Given the description of an element on the screen output the (x, y) to click on. 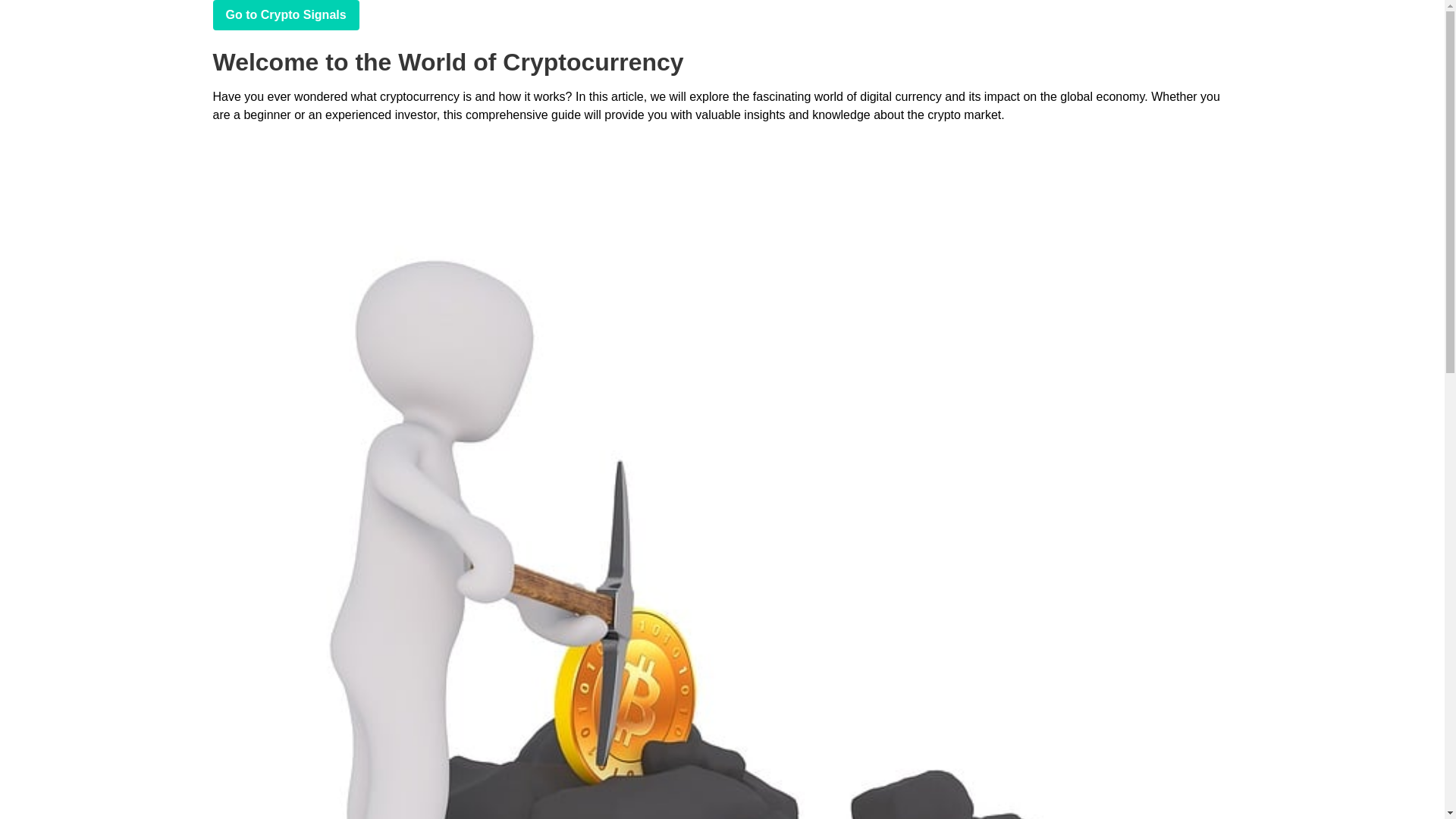
Go to Crypto Signals (285, 15)
play (285, 15)
